Given the description of an element on the screen output the (x, y) to click on. 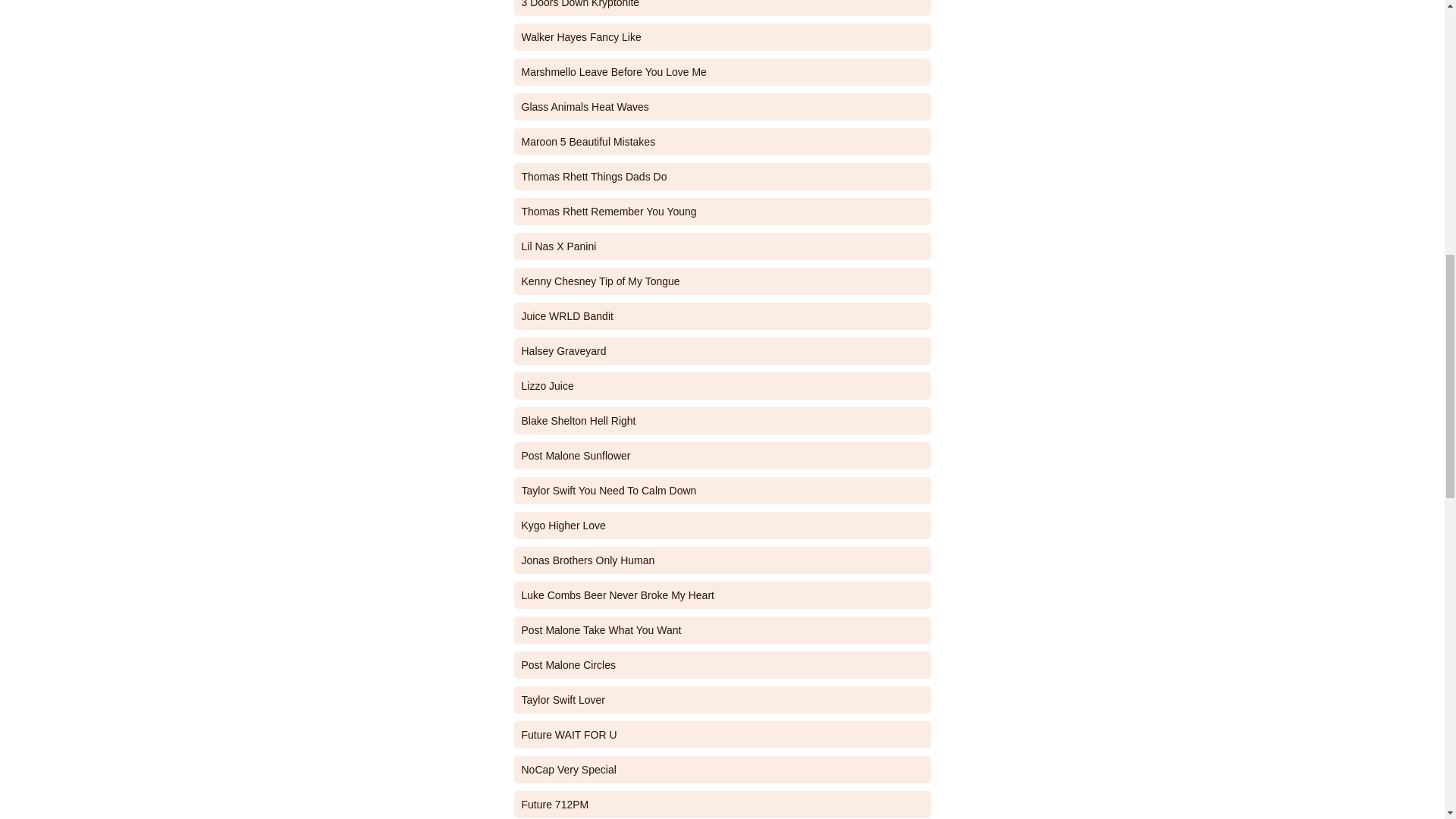
Jonas Brothers Only Human (722, 560)
Taylor Swift You Need To Calm Down (722, 490)
Post Malone Sunflower (722, 455)
Blake Shelton Hell Right (722, 420)
Kenny Chesney Tip of My Tongue (722, 280)
Thomas Rhett Things Dads Do (722, 176)
Juice WRLD Bandit (722, 316)
Halsey Graveyard (722, 350)
Lizzo Juice (722, 385)
Thomas Rhett Remember You Young (722, 211)
3 Doors Down Kryptonite (722, 7)
Marshmello Leave Before You Love Me (722, 71)
Maroon 5 Beautiful Mistakes (722, 141)
Luke Combs Beer Never Broke My Heart (722, 595)
Walker Hayes Fancy Like (722, 36)
